Given the description of an element on the screen output the (x, y) to click on. 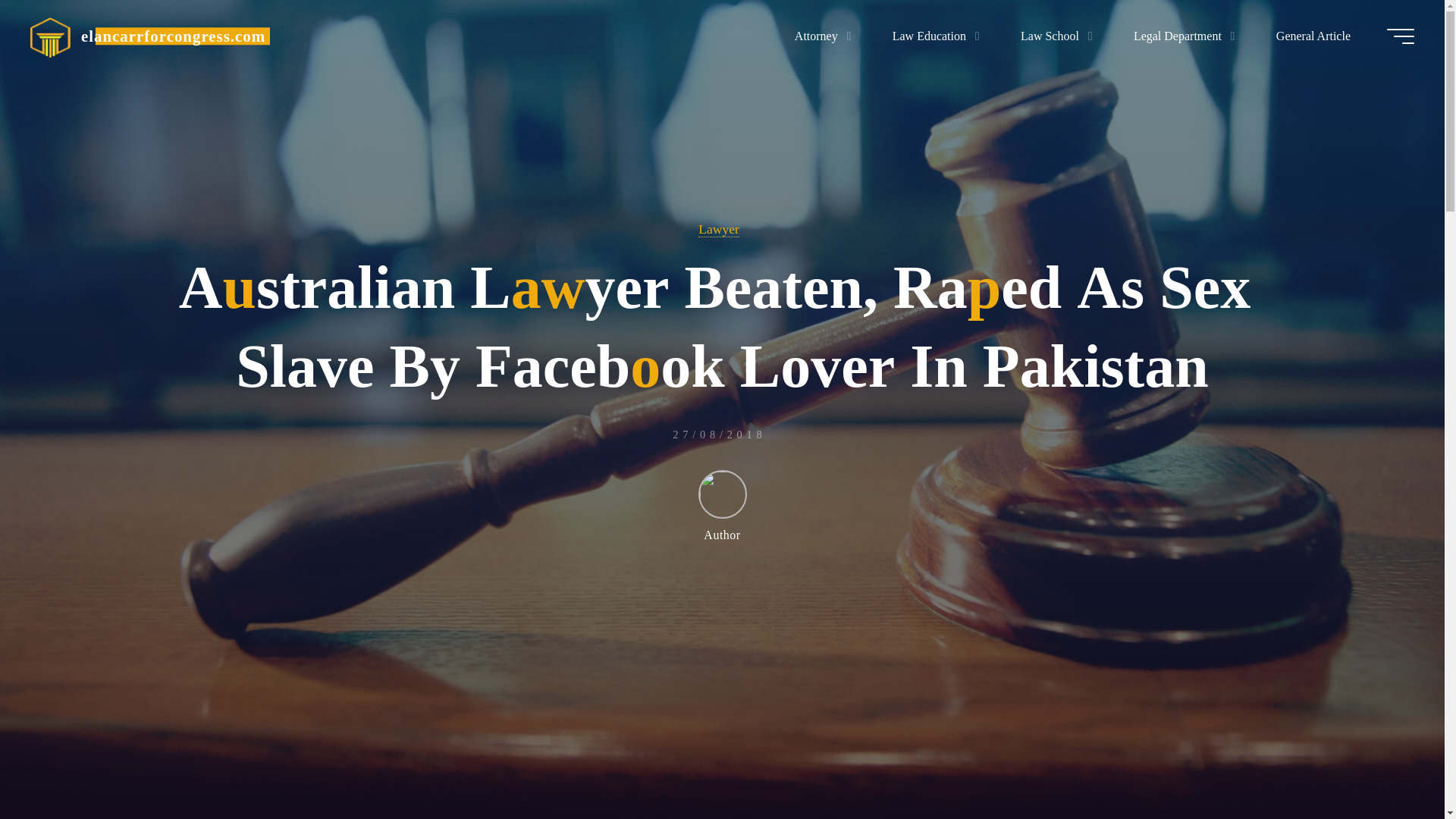
Law Education (931, 35)
Lawyer (718, 229)
elancarrforcongress.com (173, 36)
Read more (721, 724)
elancarrforcongress.com (49, 35)
Law For Education (173, 36)
Attorney (818, 35)
General Article (1313, 35)
Legal Department (1180, 35)
Law School (1052, 35)
